Given the description of an element on the screen output the (x, y) to click on. 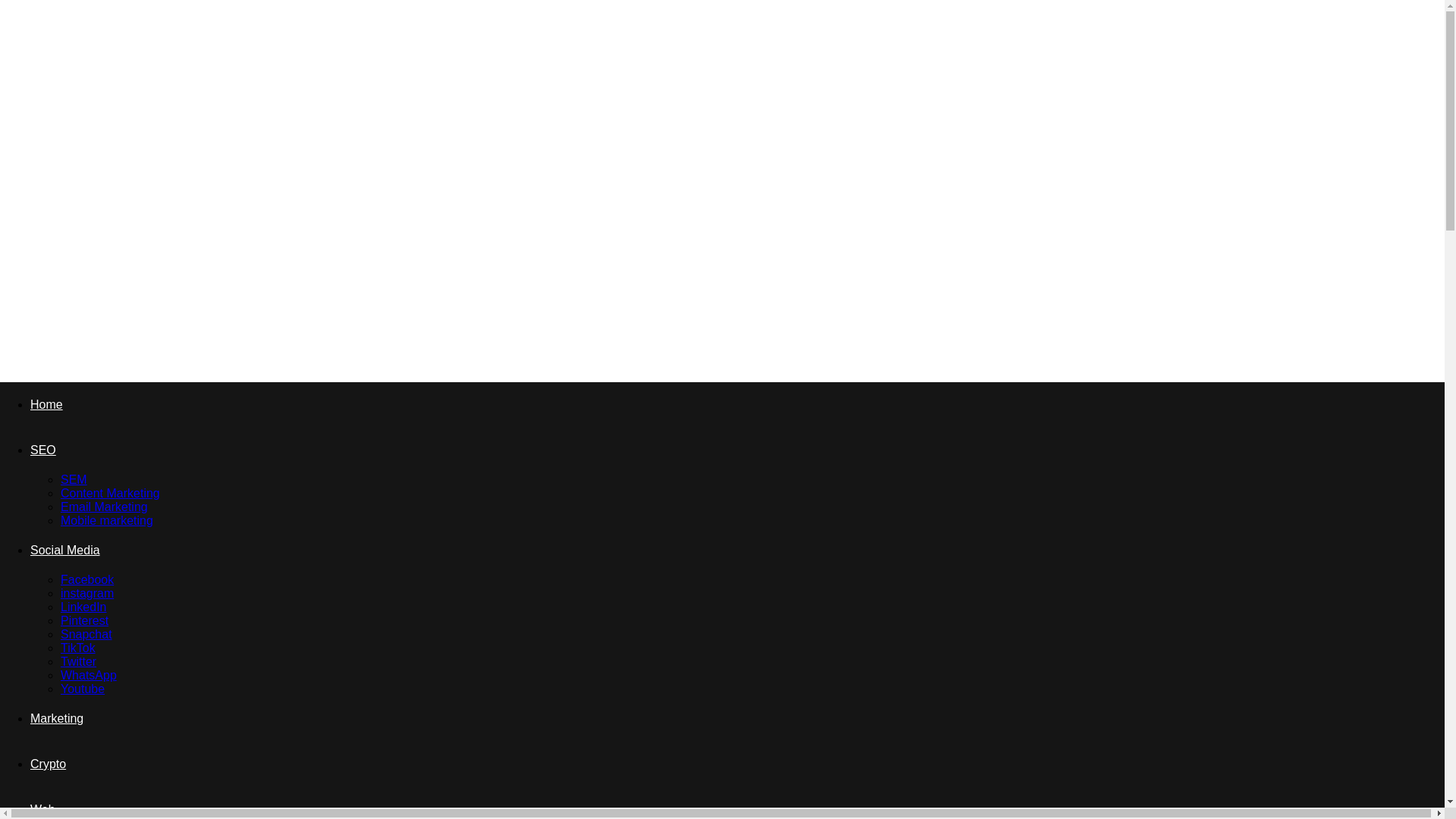
Snapchat (86, 634)
Home (46, 404)
Email Marketing (104, 506)
Content Marketing (110, 492)
SEM (74, 479)
Mobile marketing (106, 520)
SEO (43, 449)
LinkedIn (83, 606)
Social Media (65, 549)
Facebook (87, 579)
instagram (87, 593)
Pinterest (84, 620)
